Given the description of an element on the screen output the (x, y) to click on. 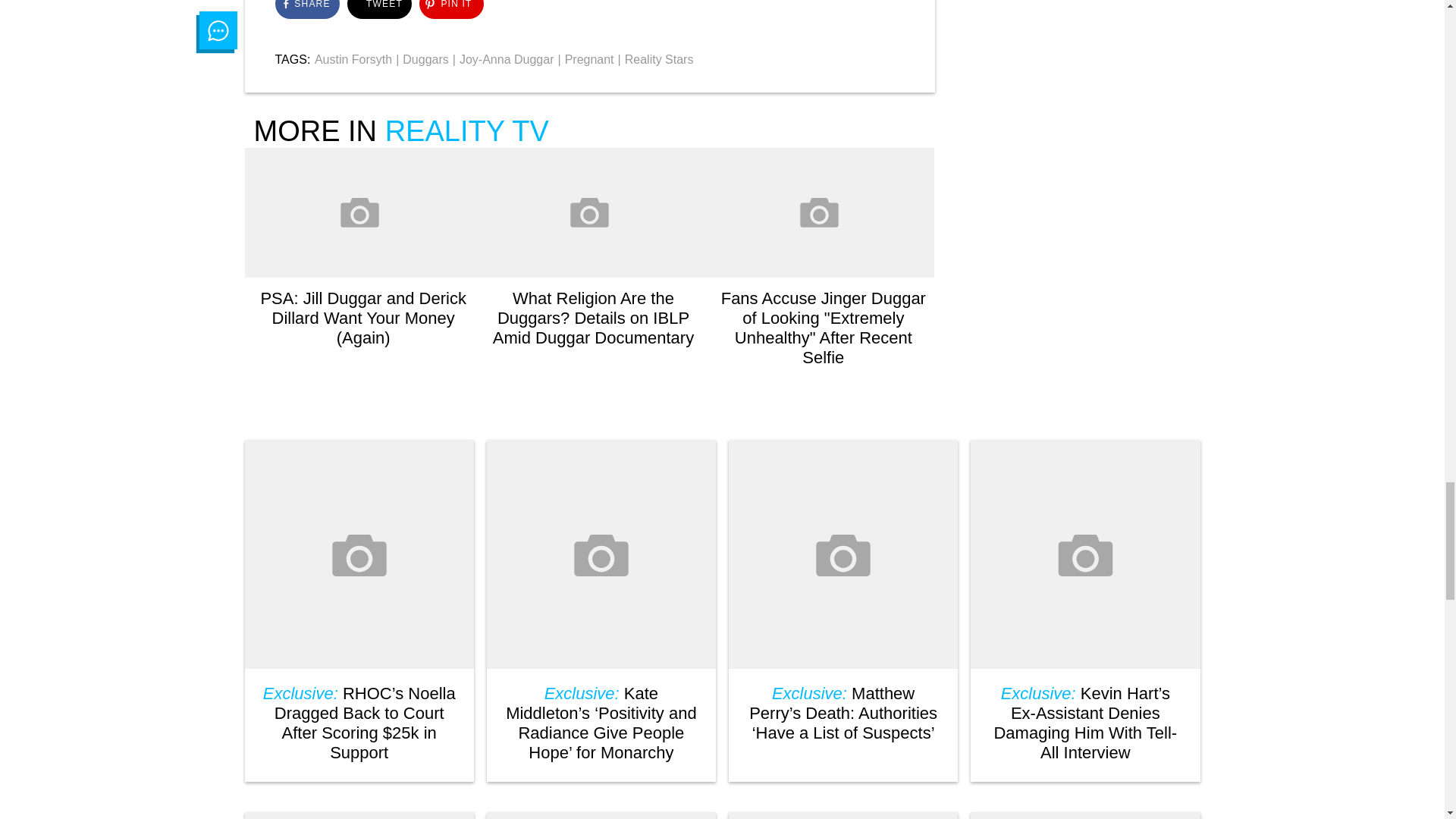
Click to share on Facebook (307, 9)
Click to share on Pinterest (451, 9)
Click to share on Twitter (379, 9)
